Given the description of an element on the screen output the (x, y) to click on. 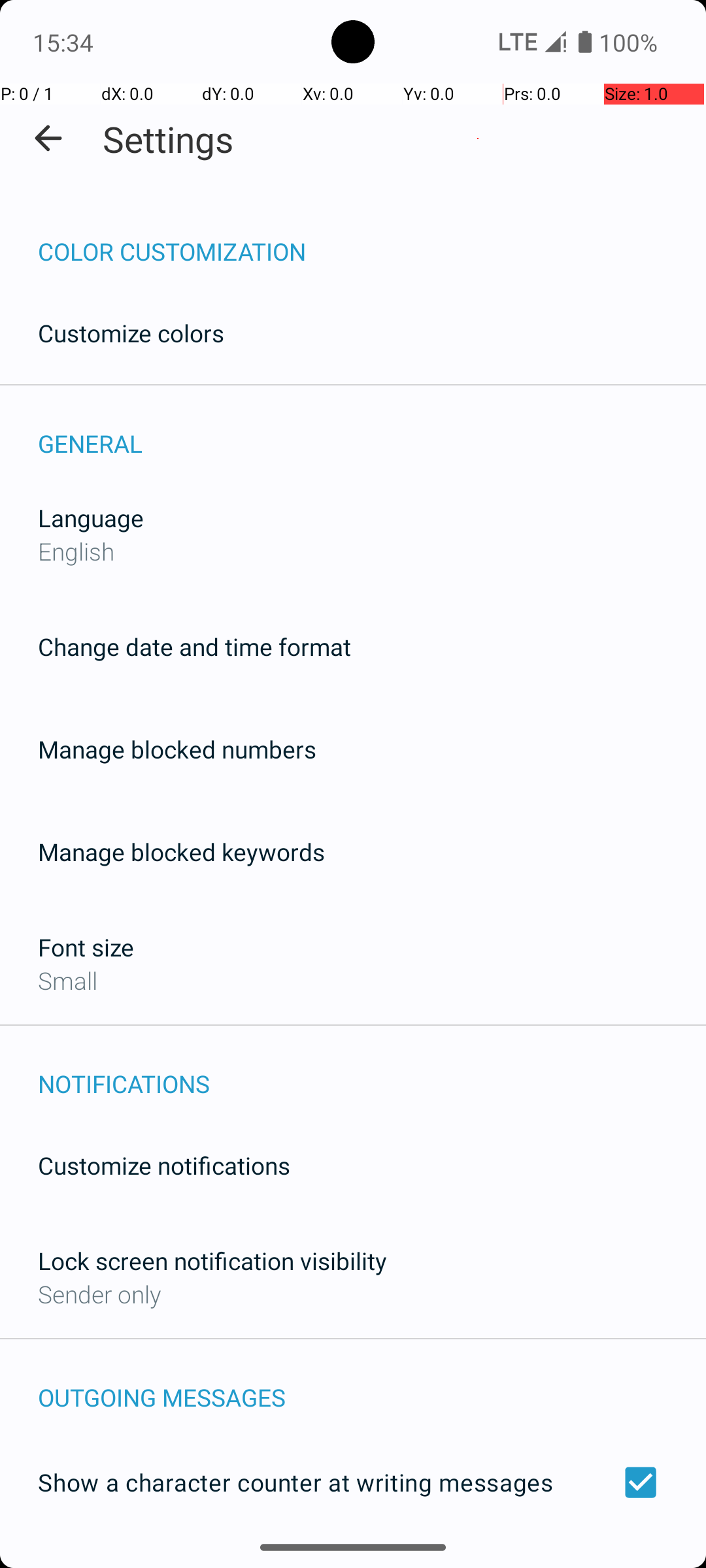
Small Element type: android.widget.TextView (67, 979)
Sender only Element type: android.widget.TextView (99, 1293)
